Given the description of an element on the screen output the (x, y) to click on. 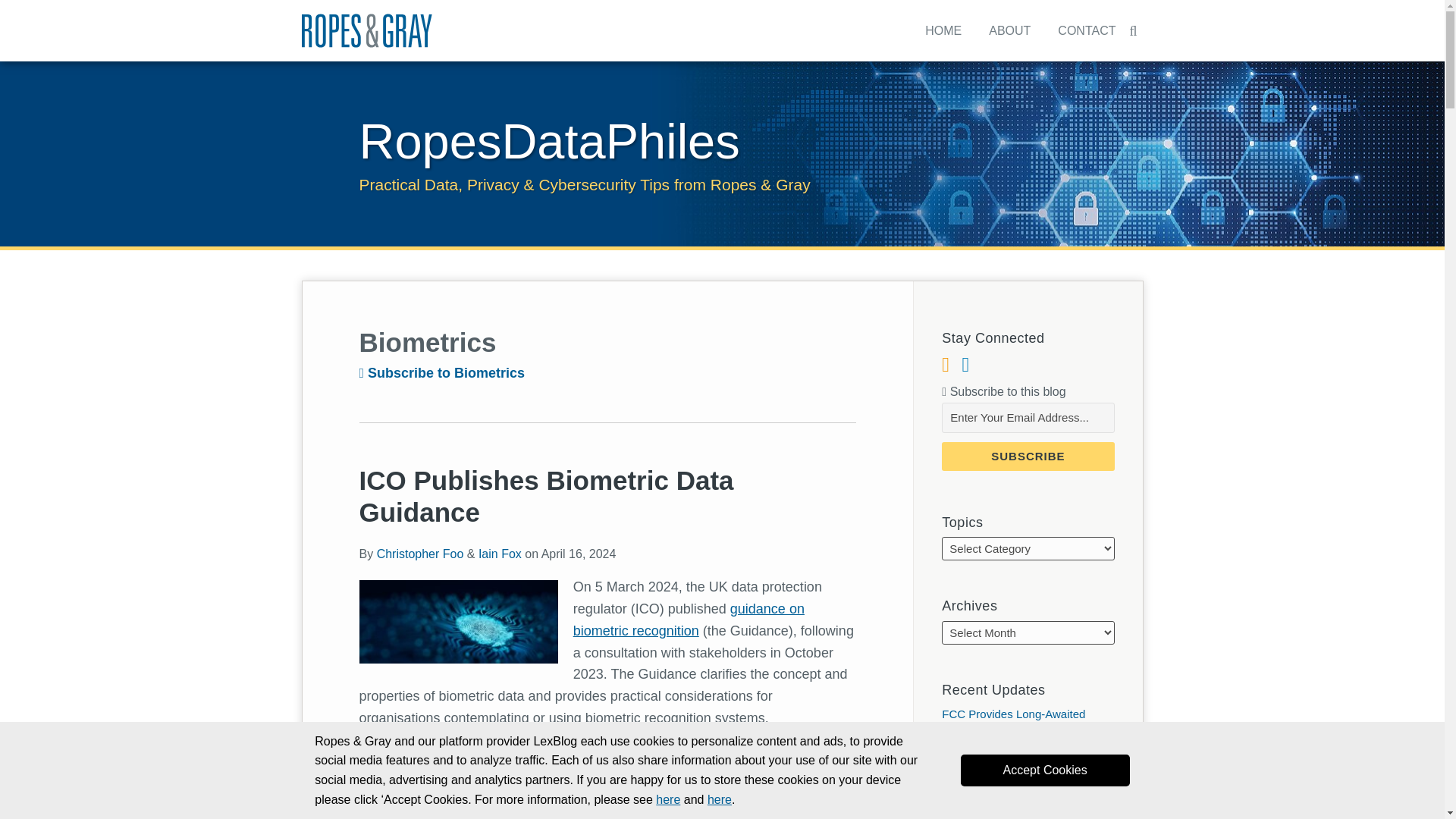
here (667, 799)
Subscribe (1027, 456)
Christopher Foo (420, 553)
Iain Fox (608, 755)
ABOUT (500, 553)
ICO Publishes Biometric Data Guidance (1009, 31)
RopesDataPhiles (546, 496)
here (549, 140)
Accept Cookies (719, 799)
CONTACT (1044, 770)
HOME (1086, 31)
Subscribe to Biometrics (942, 31)
guidance on biometric recognition (442, 372)
